Given the description of an element on the screen output the (x, y) to click on. 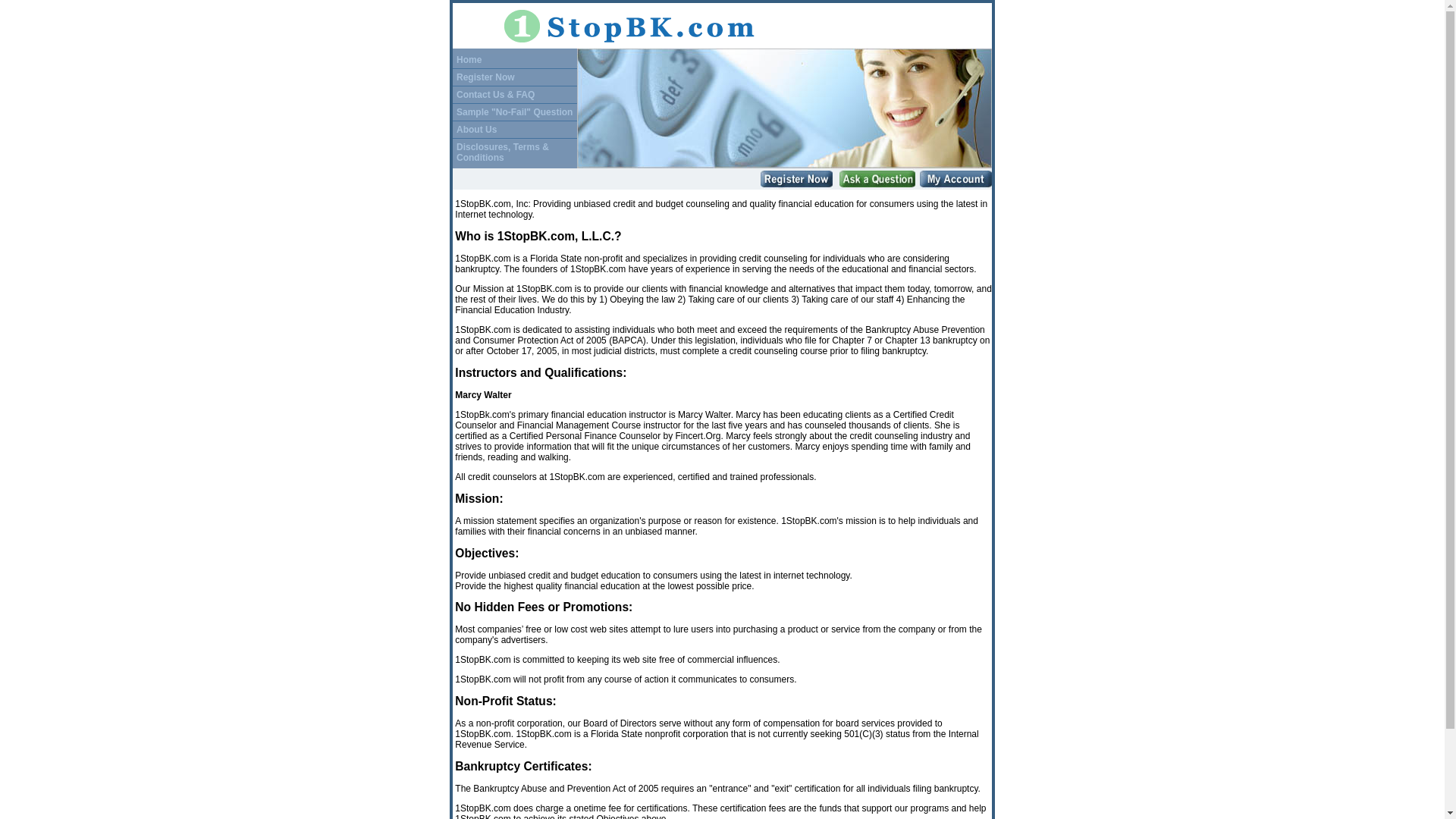
Contact Us & FAQ Element type: text (495, 94)
Register Now Element type: text (485, 76)
Sample "No-Fail" Question Element type: text (514, 111)
Disclosures, Terms & Conditions Element type: text (502, 151)
Home Element type: text (468, 59)
About Us Element type: text (476, 129)
